Given the description of an element on the screen output the (x, y) to click on. 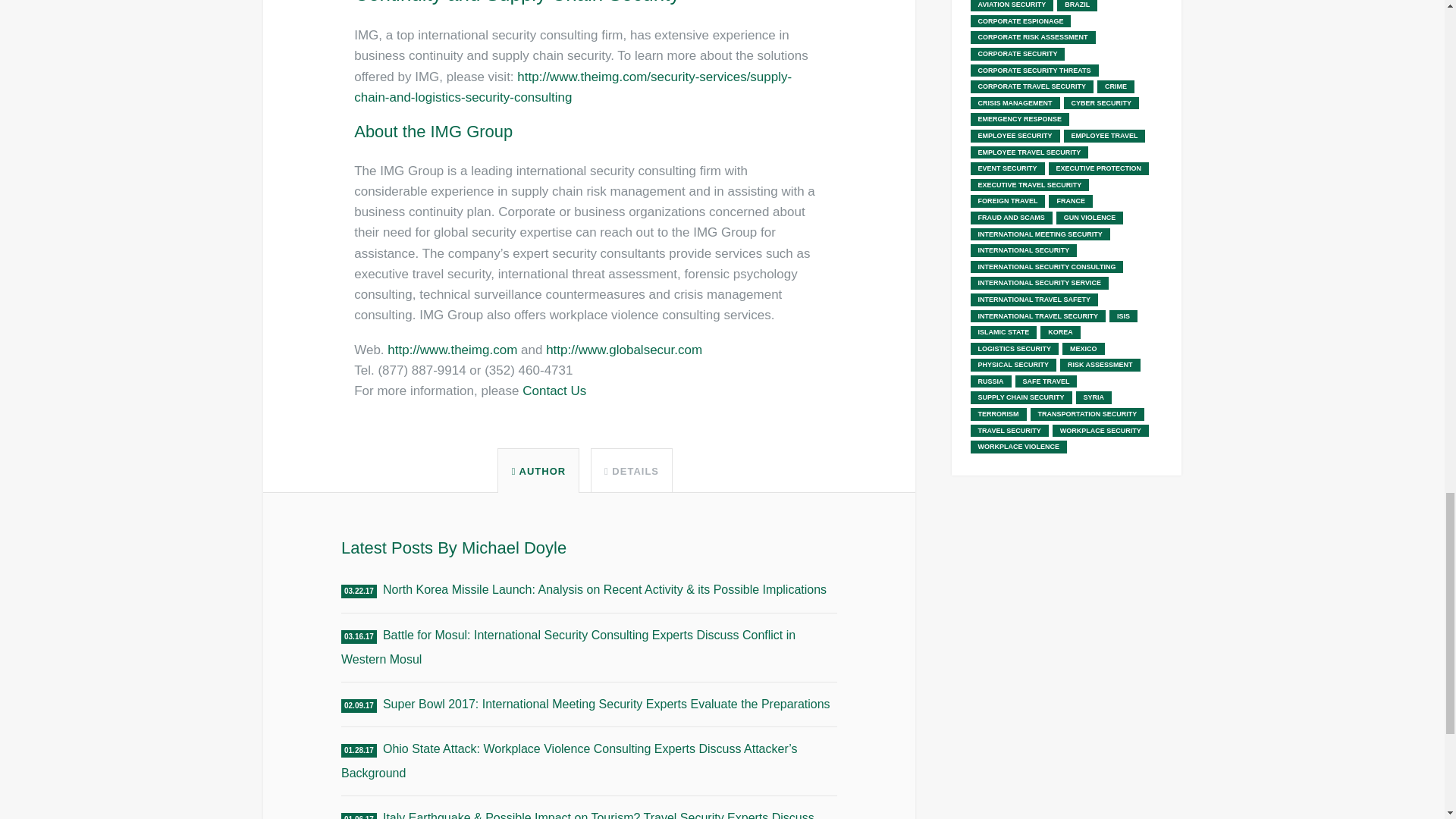
Incident Management Group (451, 350)
AUTHOR (539, 471)
Contact Us (554, 391)
IMG GlobalSecur (623, 350)
Supply Chain Security (572, 86)
DETAILS (631, 471)
Contact IMG Group, Supply Chain Security Experts (554, 391)
